Given the description of an element on the screen output the (x, y) to click on. 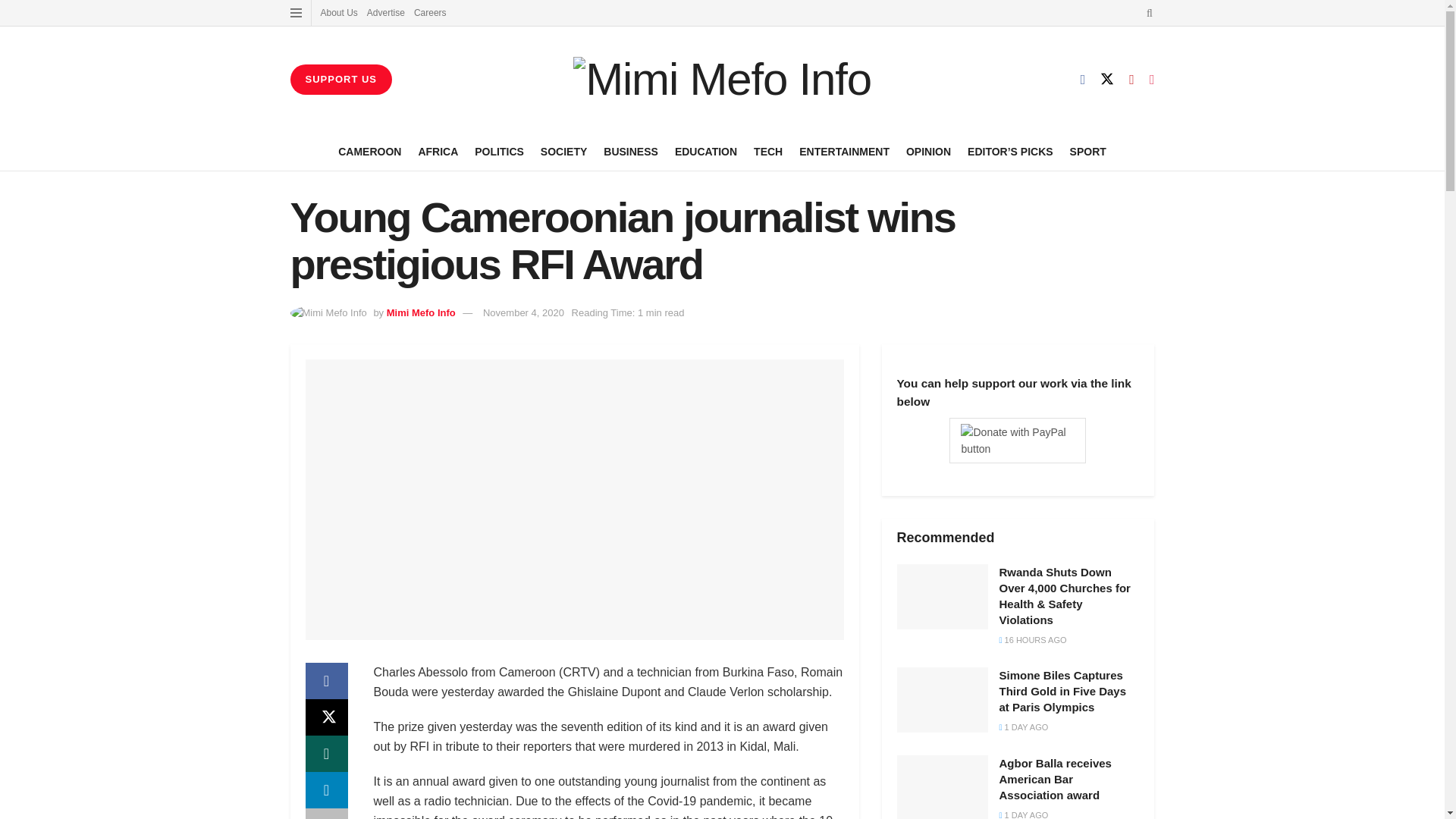
SPORT (1088, 151)
OPINION (927, 151)
Advertise (385, 12)
SUPPORT US (340, 79)
POLITICS (499, 151)
About Us (338, 12)
PayPal - The safer, easier way to pay online! (1017, 440)
Careers (429, 12)
EDUCATION (705, 151)
SOCIETY (563, 151)
